Given the description of an element on the screen output the (x, y) to click on. 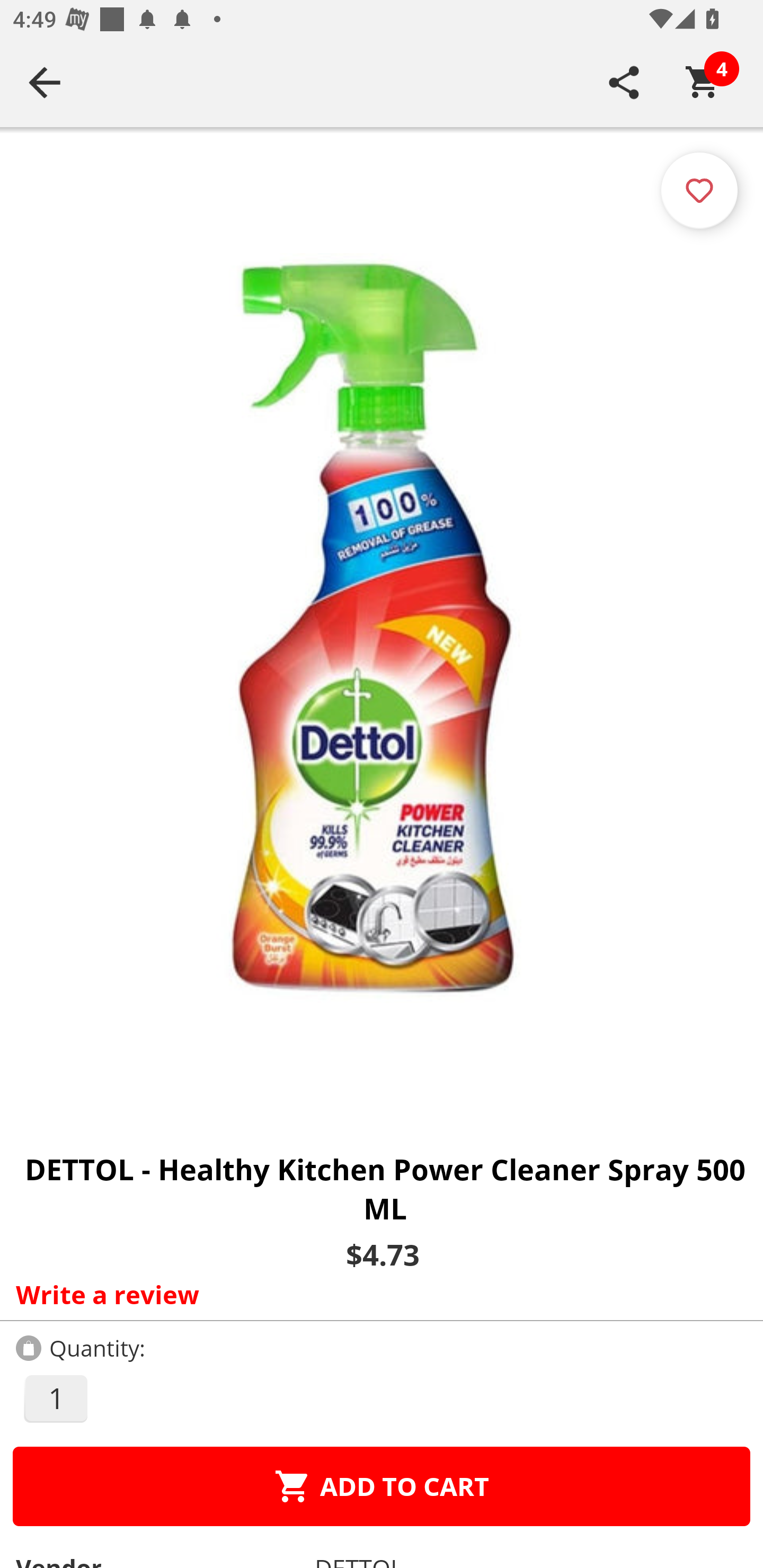
Navigate up (44, 82)
SHARE (623, 82)
Cart (703, 81)
Write a review (377, 1294)
1 (55, 1398)
ADD TO CART (381, 1486)
